Given the description of an element on the screen output the (x, y) to click on. 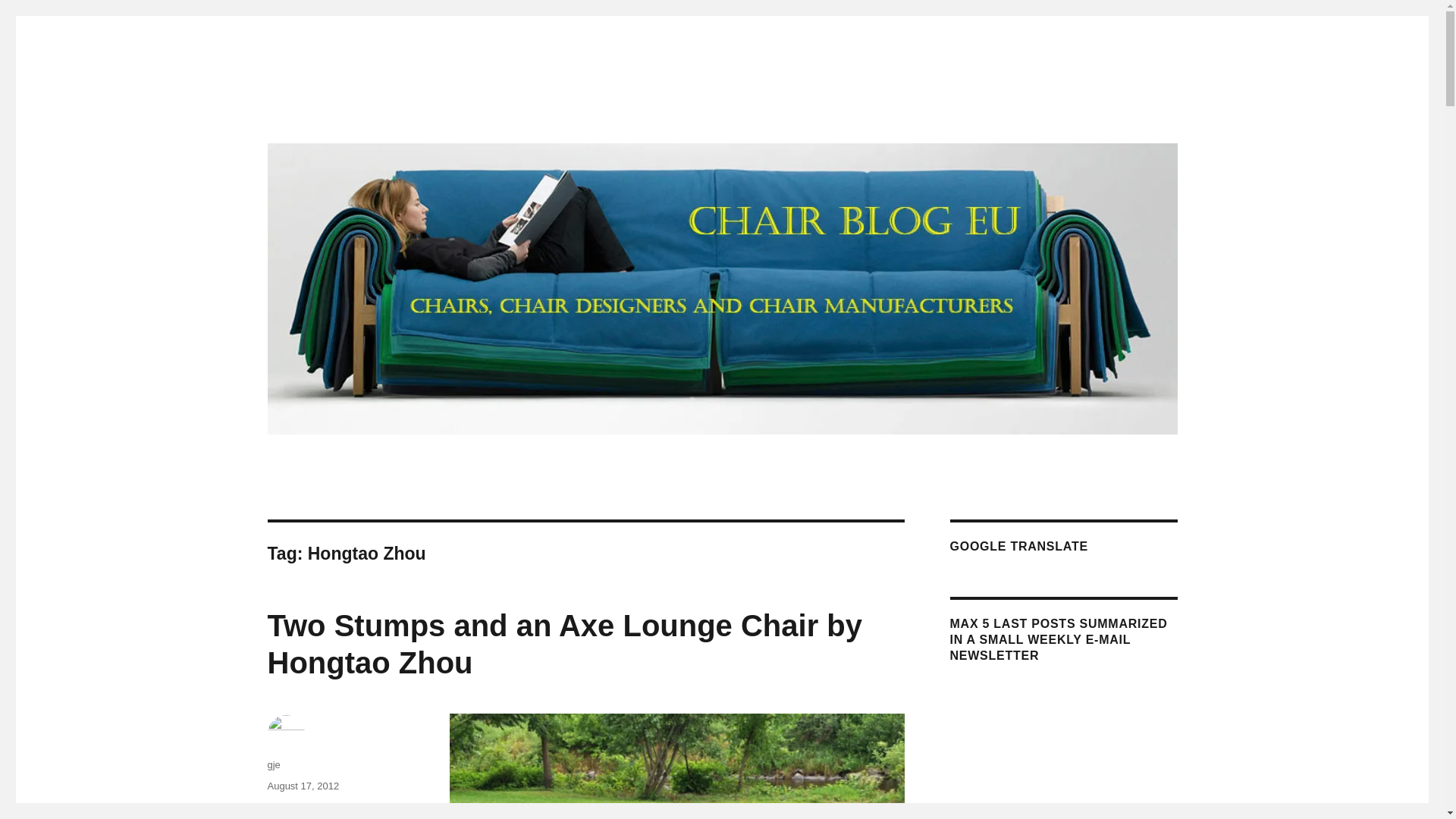
Two Stumps and an Axe Lounge Chair by Hongtao Zhou (563, 644)
August 17, 2012 (302, 785)
Chairblog.eu (331, 114)
Two-Axes-and-a-Stump-Chair (676, 766)
gje (272, 764)
